Given the description of an element on the screen output the (x, y) to click on. 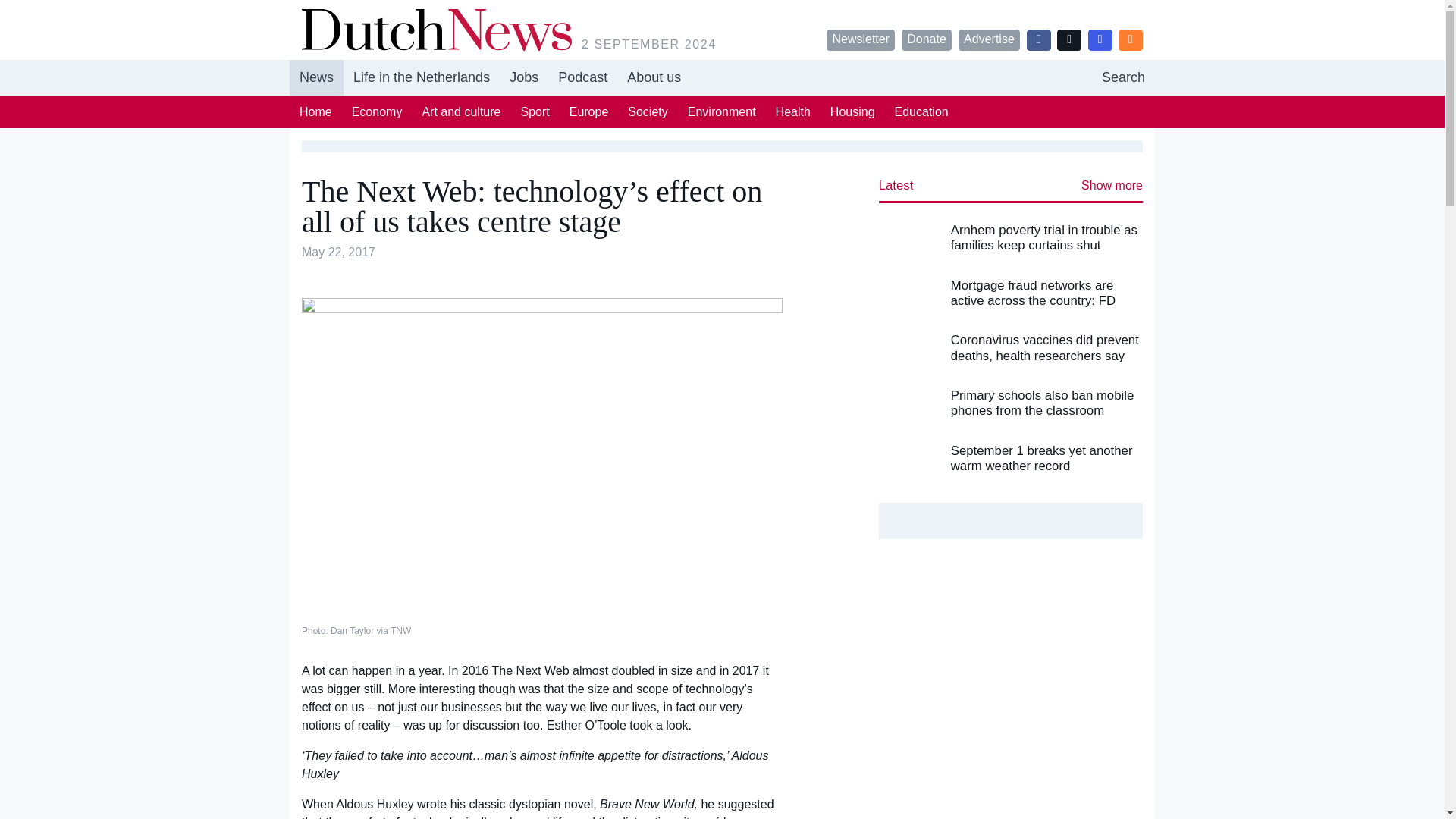
Home (315, 111)
hidden-in-footer (1123, 77)
Advertise (989, 39)
Education (921, 111)
hidden-in-footer (582, 77)
News (316, 77)
Podcast (582, 77)
hidden-in-footer (523, 77)
